Given the description of an element on the screen output the (x, y) to click on. 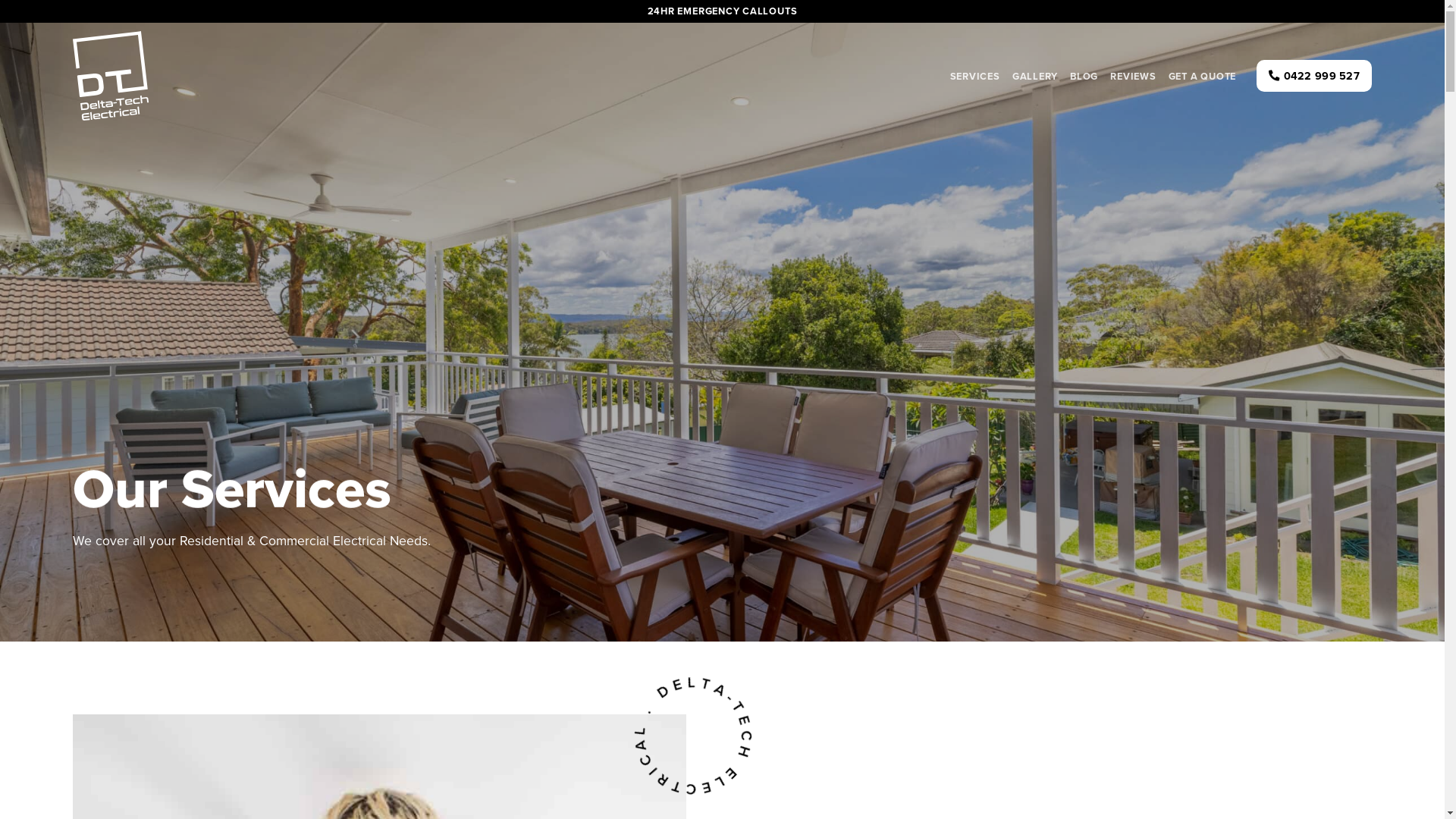
REVIEWS Element type: text (1132, 75)
GALLERY Element type: text (1034, 75)
0422 999 527 Element type: text (1313, 75)
GET A QUOTE Element type: text (1202, 75)
24HR EMERGENCY CALLOUTS Element type: text (722, 10)
BLOG Element type: text (1083, 75)
SERVICES Element type: text (975, 75)
